Given the description of an element on the screen output the (x, y) to click on. 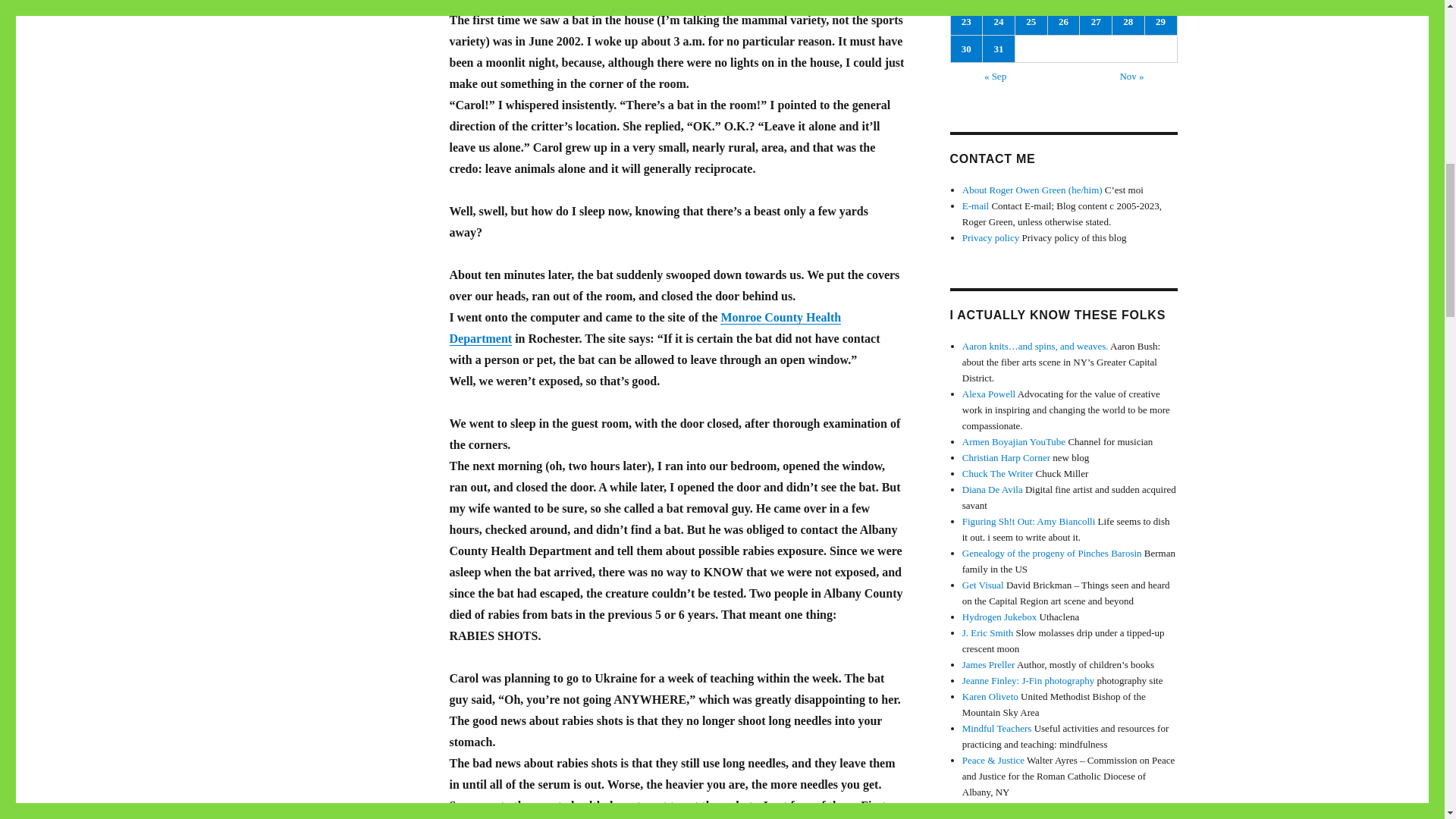
Monroe County Health Department (644, 327)
22 (1160, 3)
20 (1096, 3)
18 (1030, 3)
19 (1064, 3)
17 (998, 3)
21 (1128, 3)
16 (966, 3)
Privacy policy of this blog (990, 237)
